Given the description of an element on the screen output the (x, y) to click on. 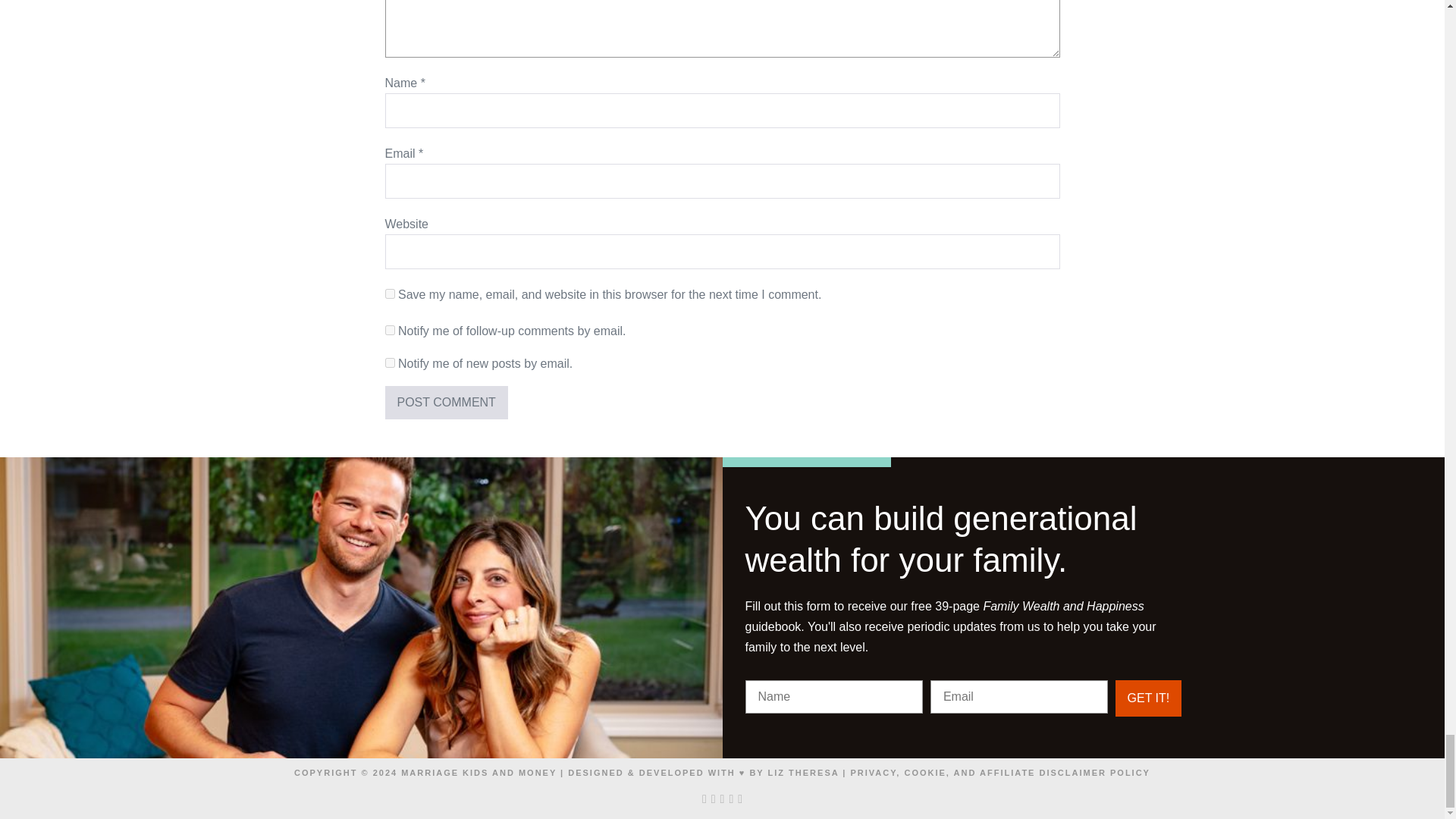
subscribe (389, 329)
Post Comment (446, 402)
subscribe (389, 362)
yes (389, 293)
